Given the description of an element on the screen output the (x, y) to click on. 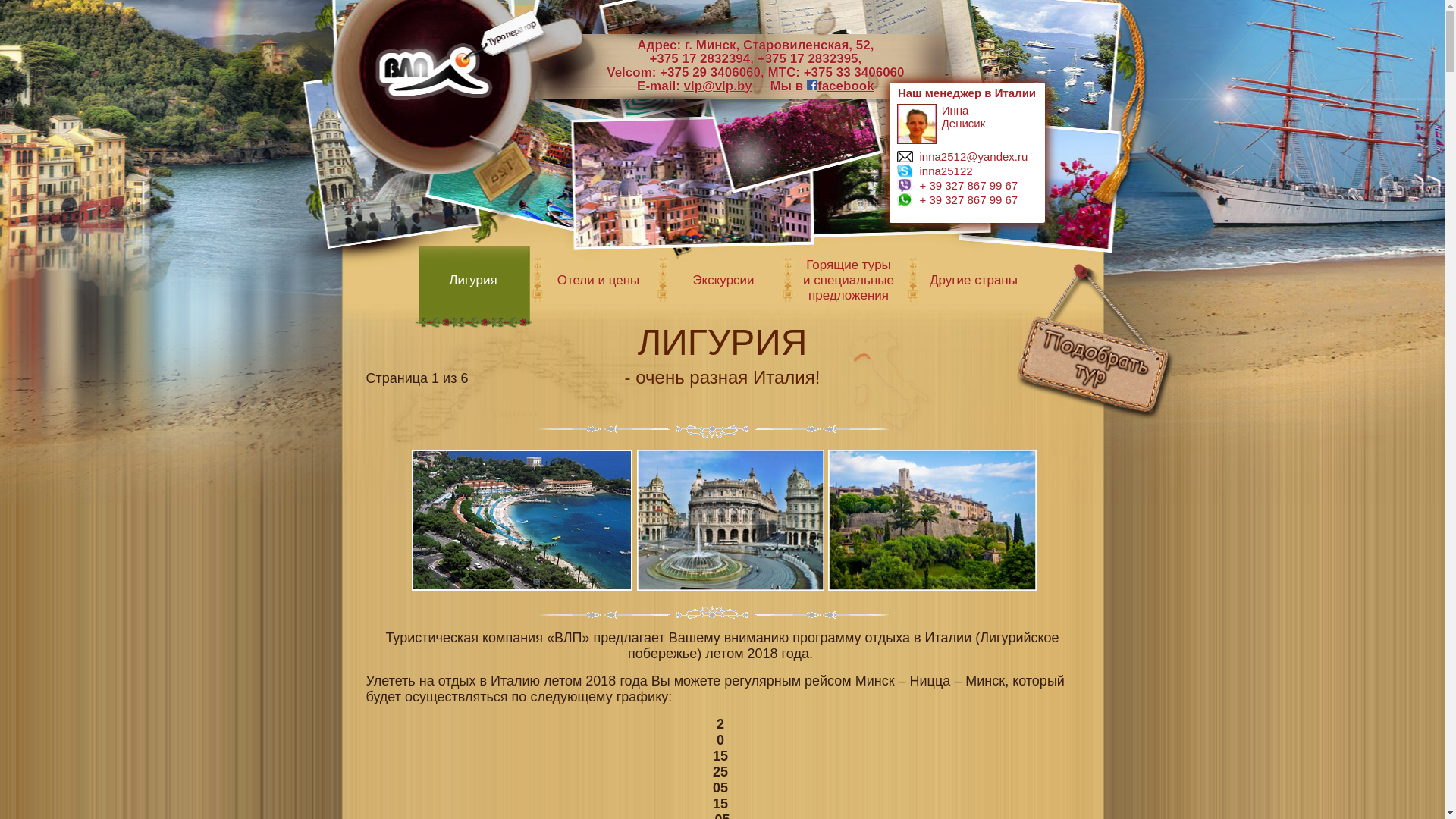
facebook Element type: text (840, 85)
inna2512@yandex.ru Element type: text (973, 156)
vlp@vlp.by Element type: text (718, 85)
